Given the description of an element on the screen output the (x, y) to click on. 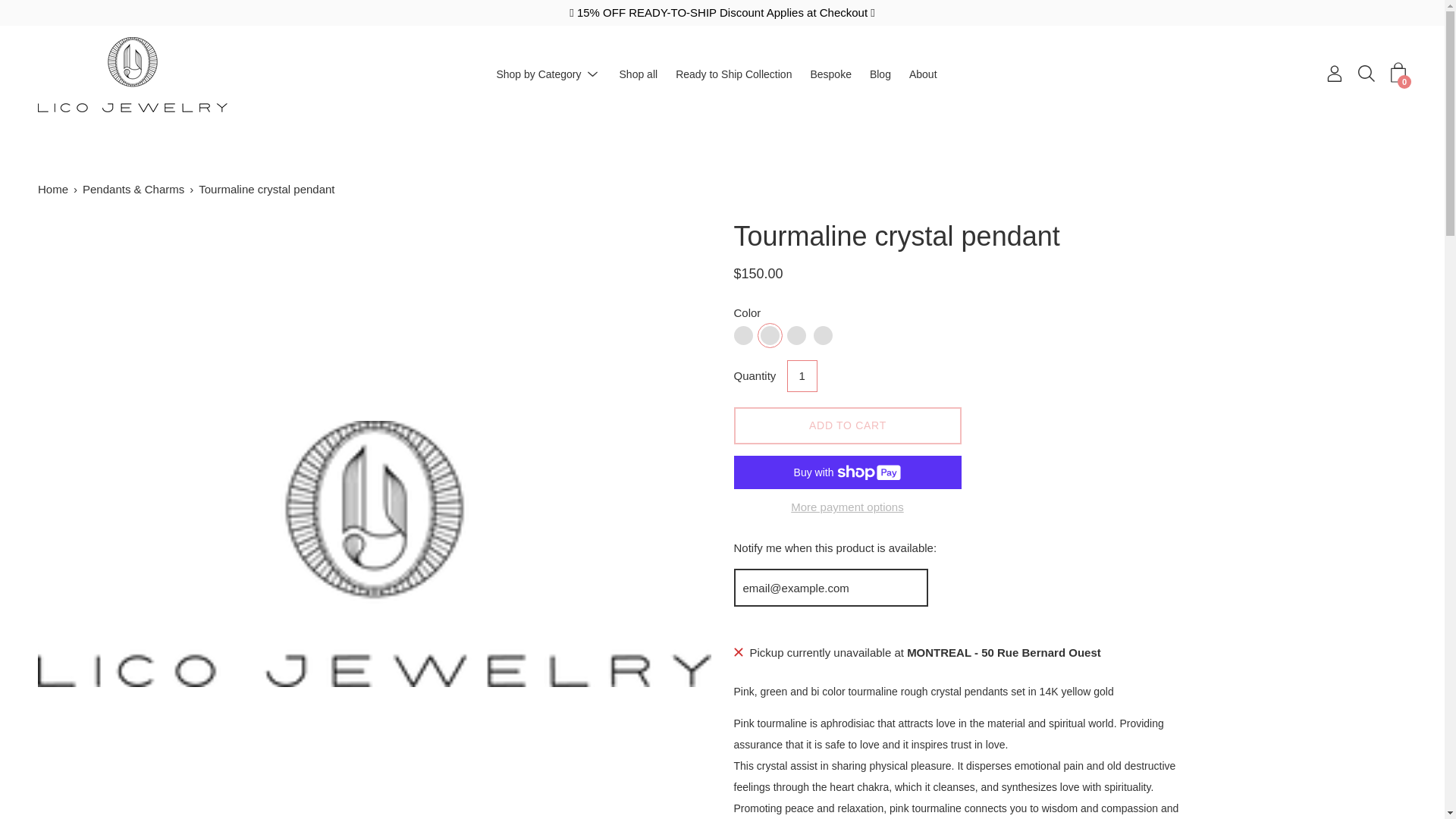
1 (801, 376)
Shop by Category (538, 74)
Go back to Home page (55, 189)
Show submenu (592, 74)
